Given the description of an element on the screen output the (x, y) to click on. 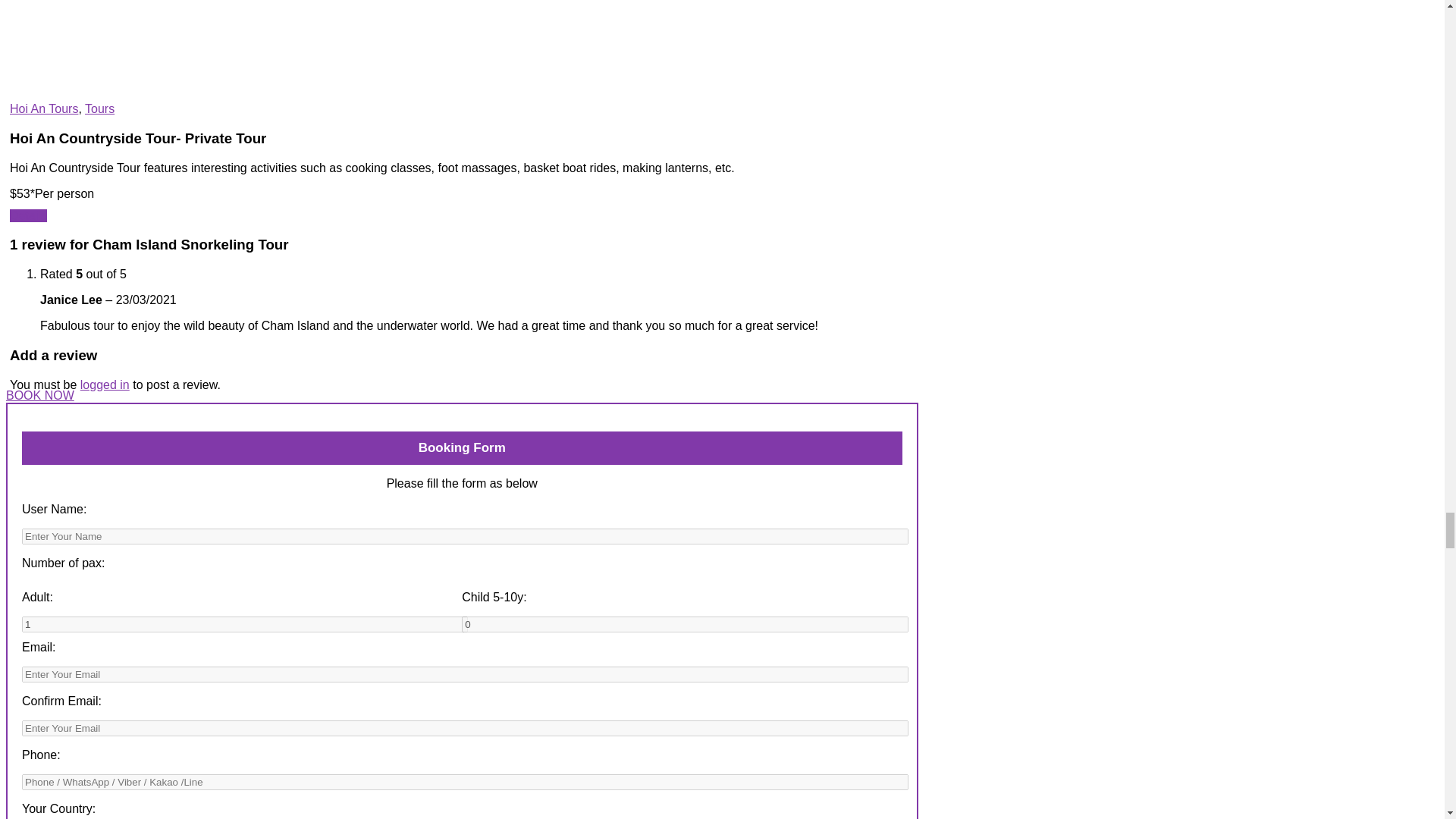
0 (684, 624)
1 (244, 624)
